Given the description of an element on the screen output the (x, y) to click on. 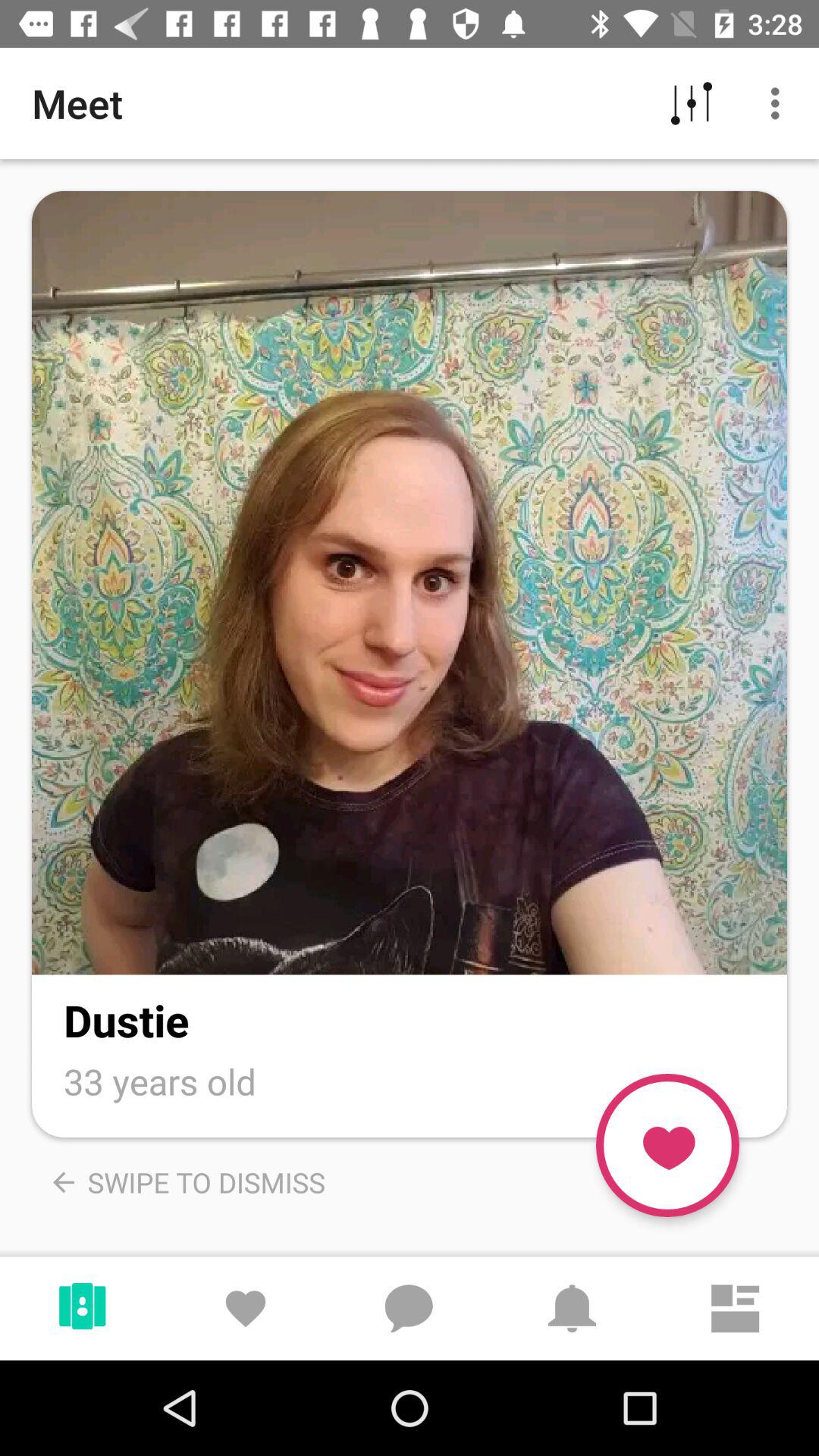
photo (409, 582)
